Given the description of an element on the screen output the (x, y) to click on. 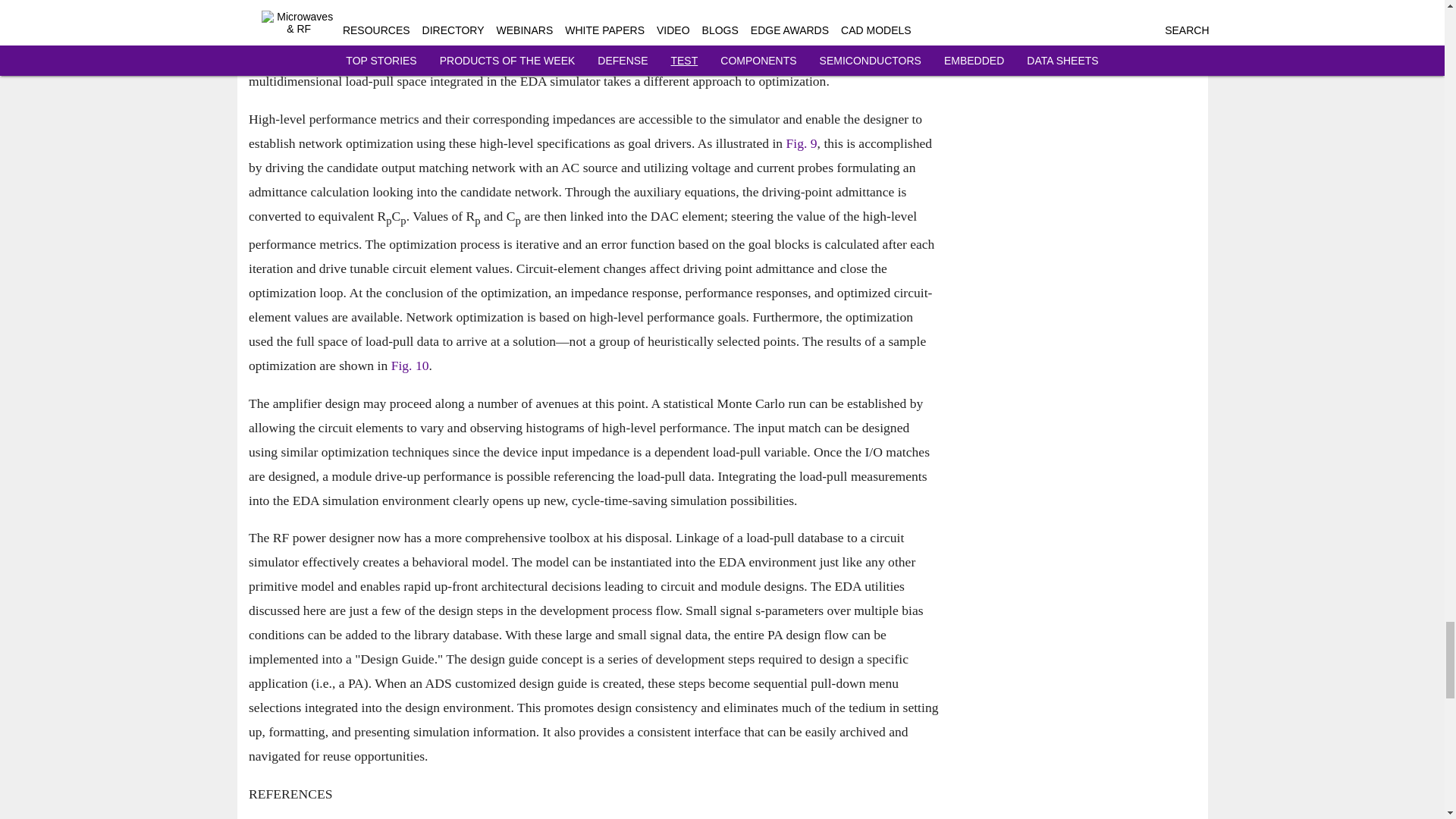
Fig. 9 (801, 142)
Fig. 10 (409, 365)
